Given the description of an element on the screen output the (x, y) to click on. 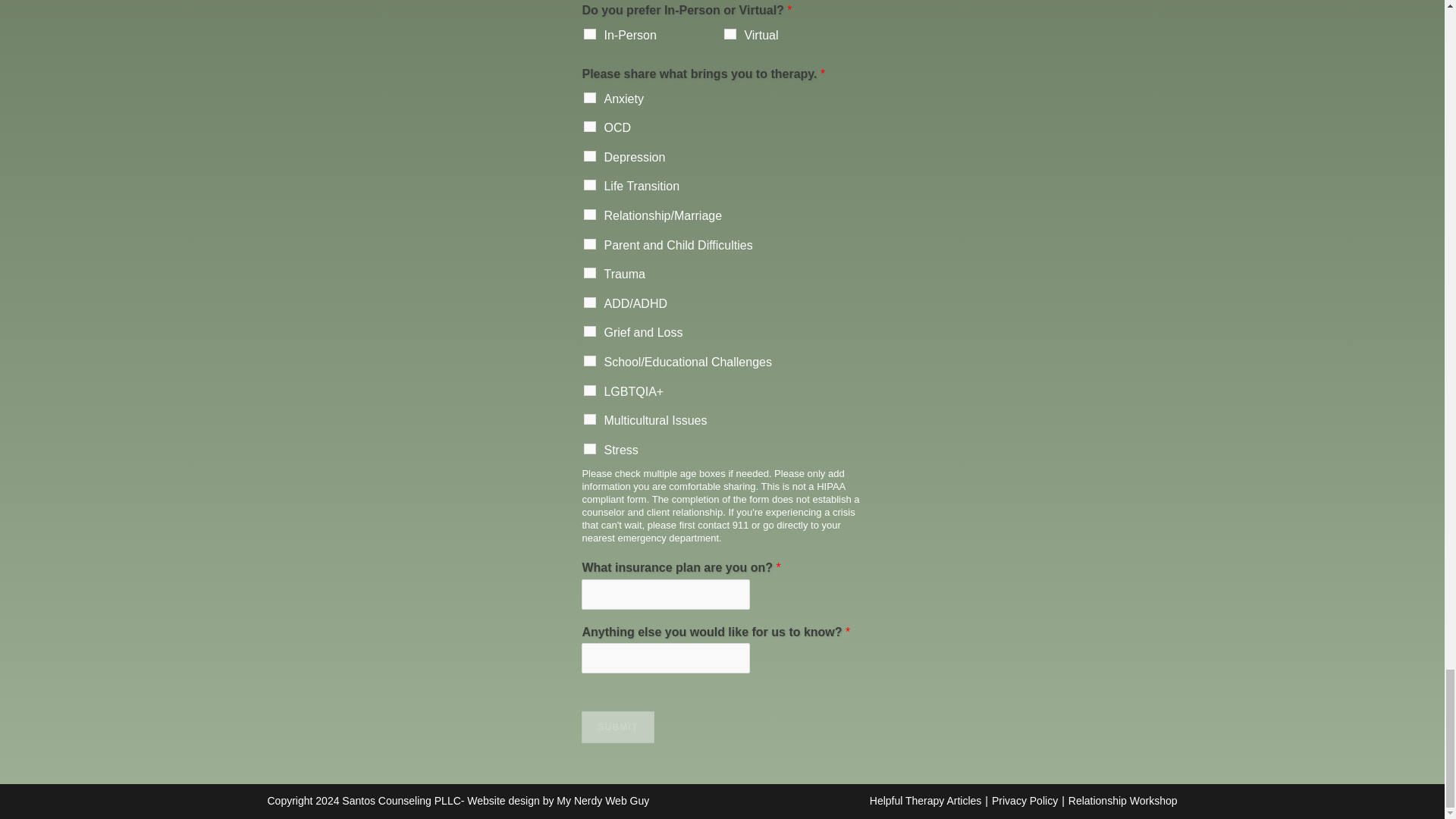
OCD (589, 126)
Depression (589, 155)
Virtual (729, 33)
Life Transition (589, 184)
Anxiety (589, 97)
In-Person (589, 33)
